Given the description of an element on the screen output the (x, y) to click on. 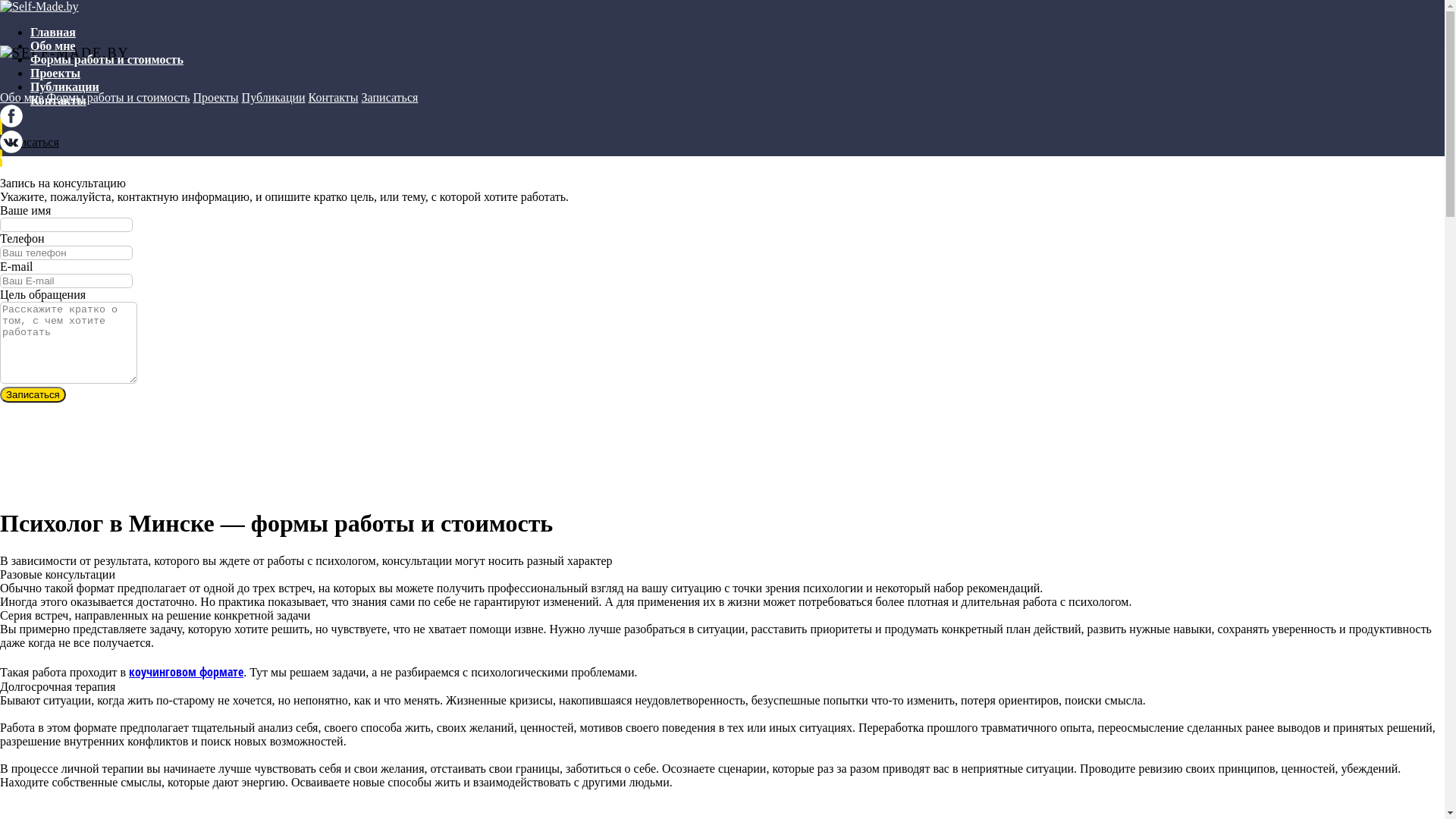
Facebook Element type: text (11, 122)
VK Element type: text (11, 148)
